Given the description of an element on the screen output the (x, y) to click on. 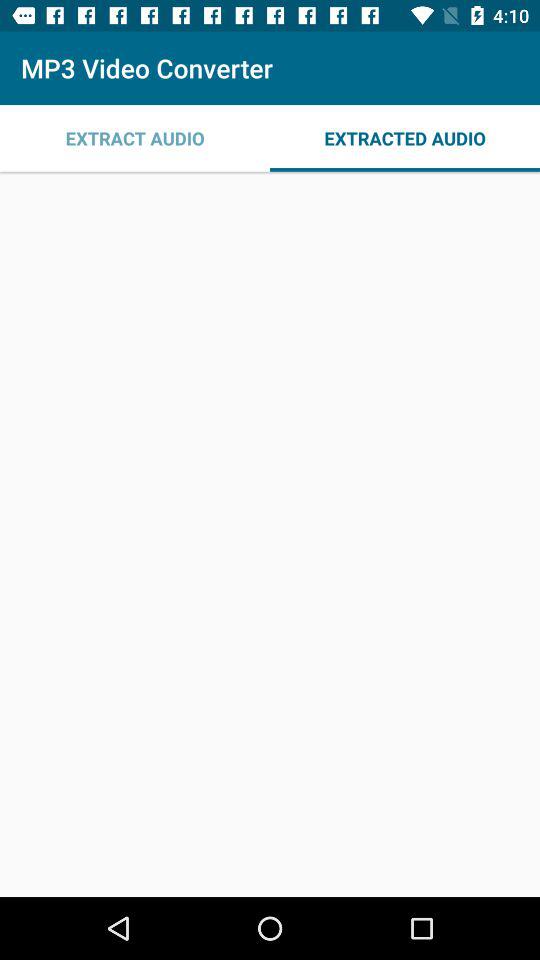
press the item below mp3 video converter app (135, 138)
